Given the description of an element on the screen output the (x, y) to click on. 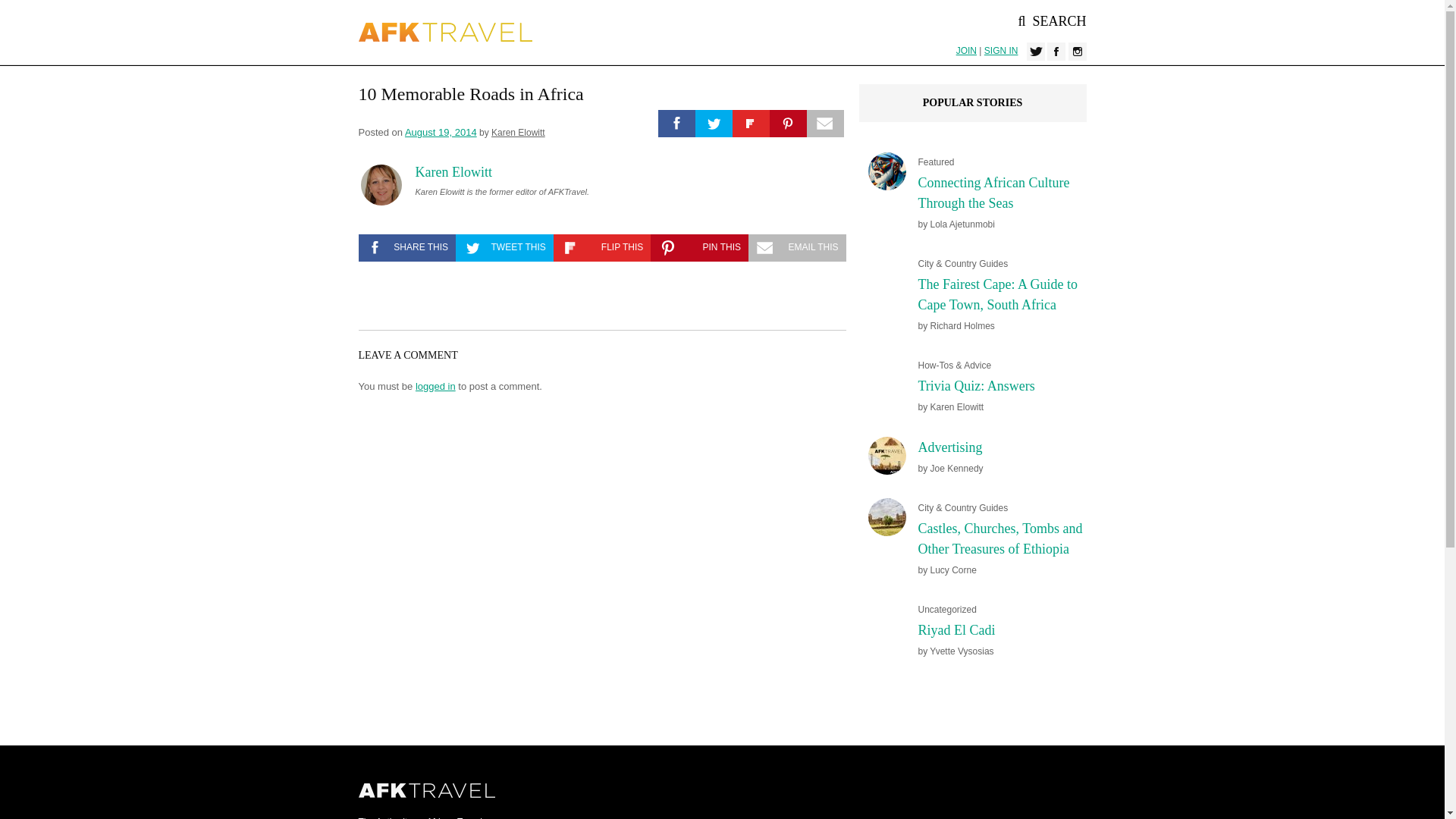
August 19, 2014 (440, 132)
Karen Elowitt (453, 172)
Trivia Quiz: Answers (975, 385)
Karen Elowitt (518, 132)
Castles, Churches, Tombs and Other Treasures of Ethiopia (999, 538)
Connecting African Culture Through the Seas (992, 193)
AFKTravel (445, 31)
JOIN (966, 50)
The Fairest Cape: A Guide to Cape Town, South Africa (997, 294)
  SEARCH (1051, 21)
SIGN IN (1000, 50)
Advertising (949, 447)
logged in (434, 386)
